Given the description of an element on the screen output the (x, y) to click on. 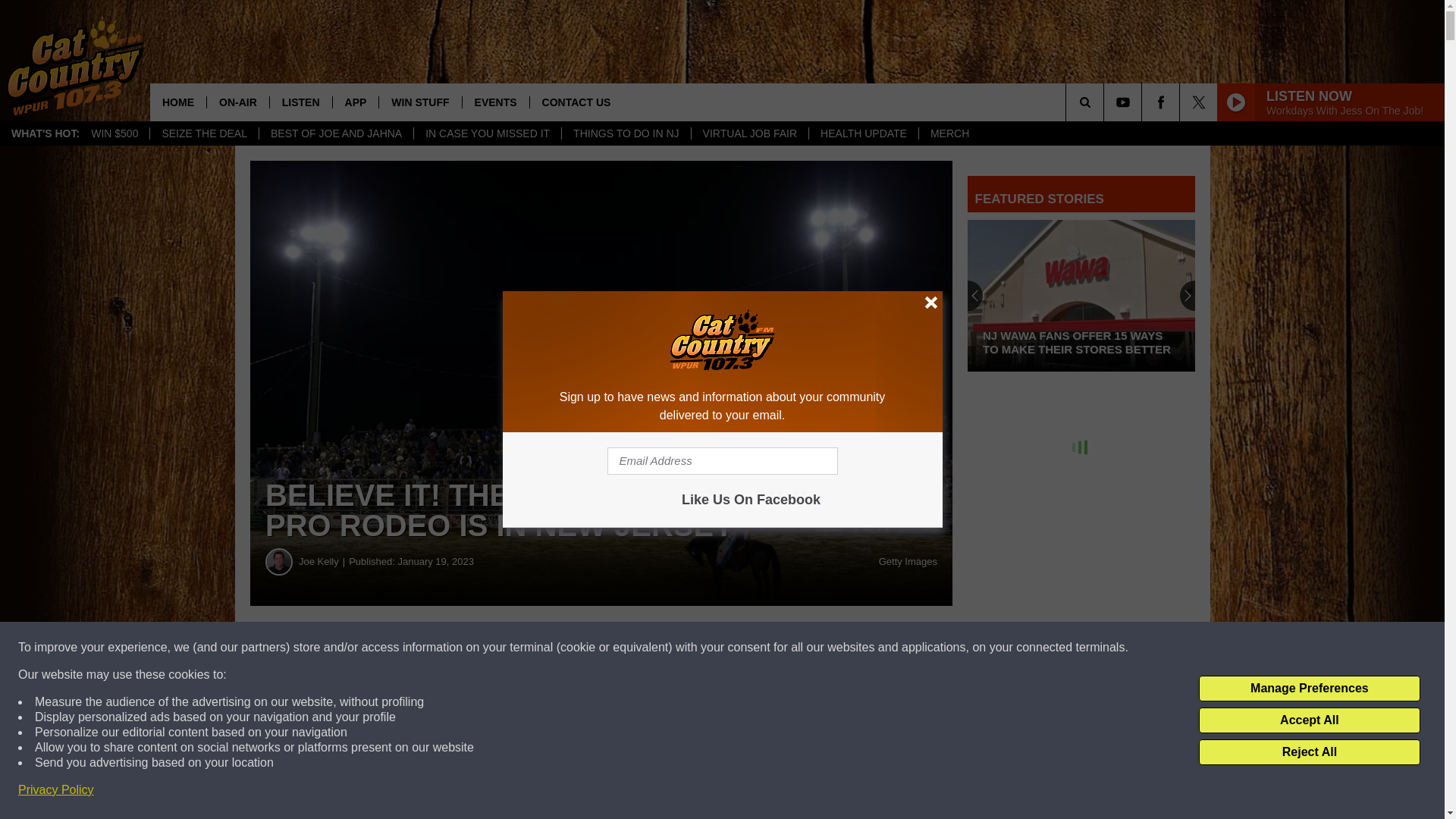
MERCH (948, 133)
APP (354, 102)
HOME (177, 102)
BEST OF JOE AND JAHNA (336, 133)
Email Address (722, 461)
Share on Facebook (460, 647)
Accept All (1309, 720)
SEARCH (1106, 102)
LISTEN (300, 102)
Reject All (1309, 751)
WIN STUFF (419, 102)
THINGS TO DO IN NJ (625, 133)
VIRTUAL JOB FAIR (749, 133)
Privacy Policy (55, 789)
SEARCH (1106, 102)
